Given the description of an element on the screen output the (x, y) to click on. 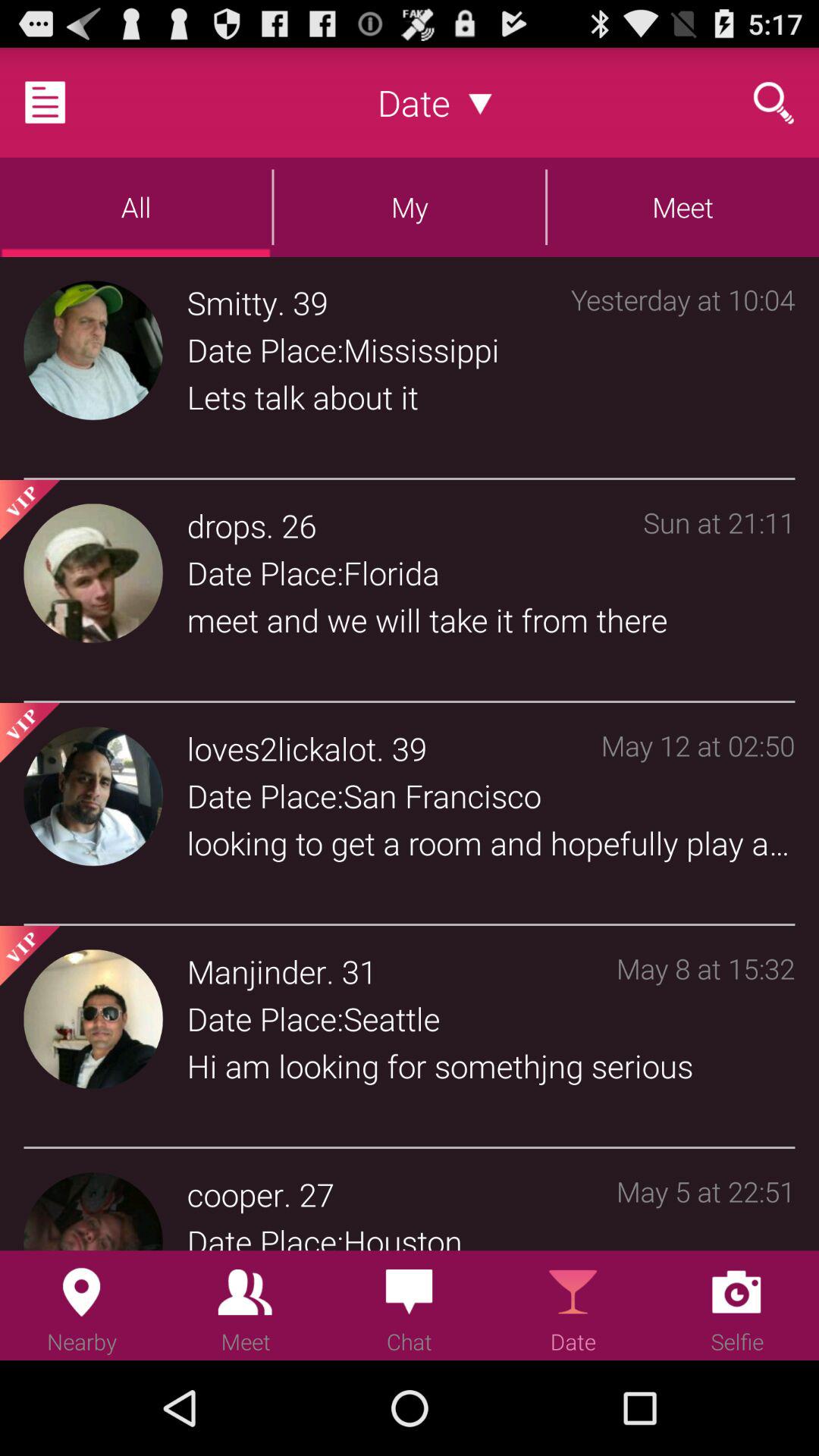
view menu (63, 102)
